Given the description of an element on the screen output the (x, y) to click on. 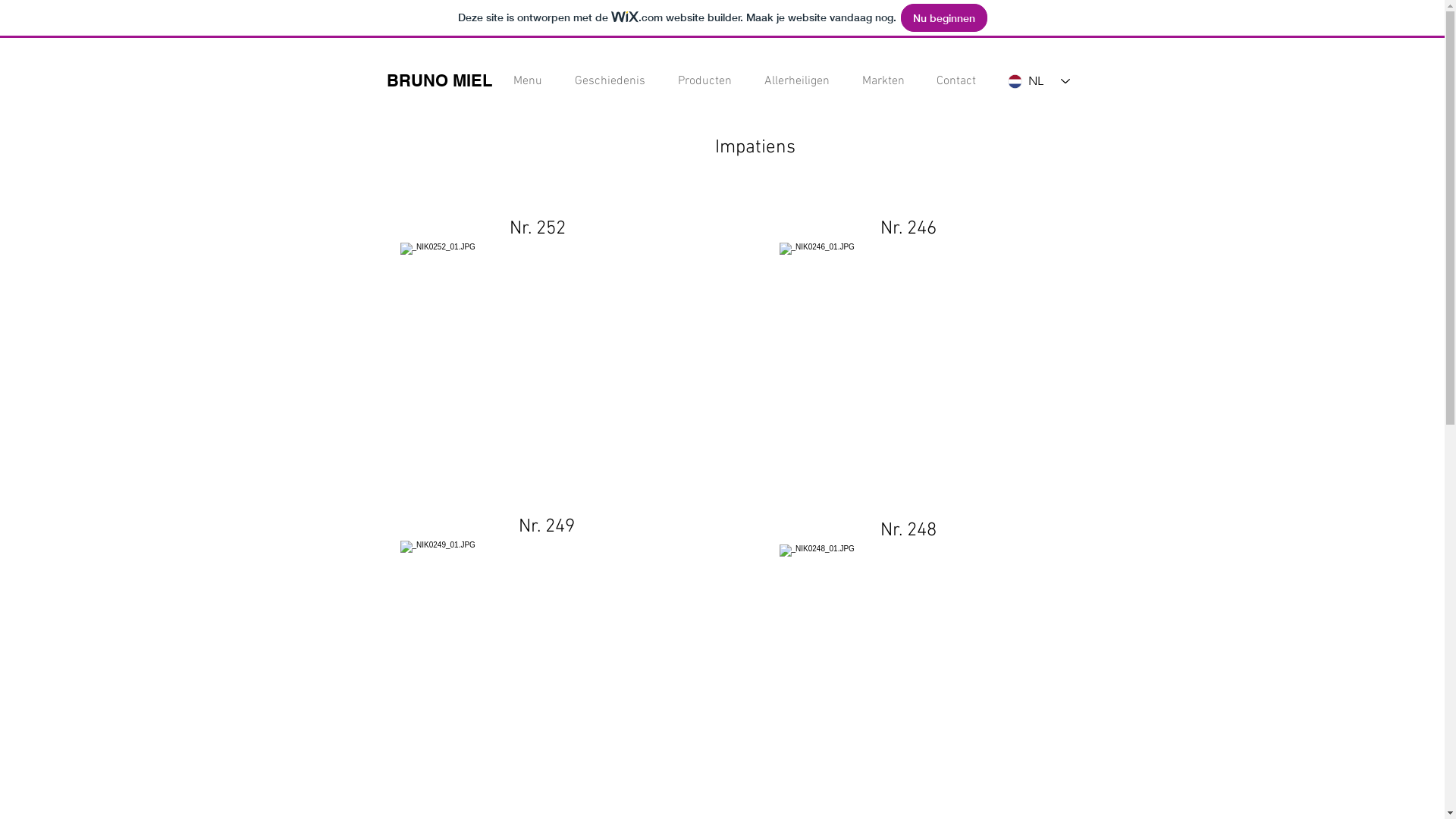
Producten Element type: text (699, 81)
Geschiedenis Element type: text (604, 81)
Menu Element type: text (521, 81)
Allerheiligen Element type: text (791, 81)
BRUNO MIEL Element type: text (439, 80)
Contact Element type: text (951, 81)
Markten Element type: text (877, 81)
